Given the description of an element on the screen output the (x, y) to click on. 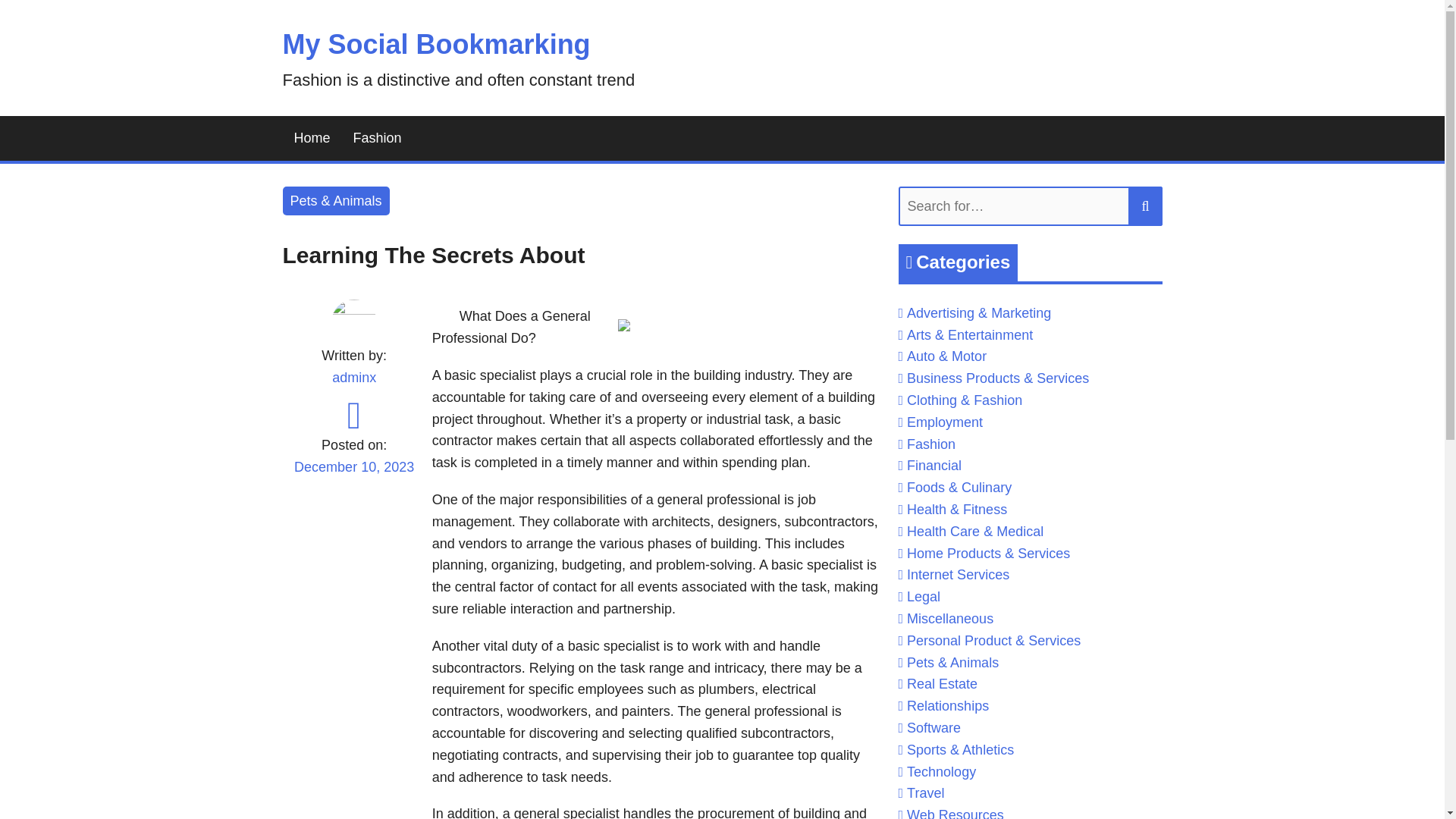
Employment (944, 421)
Software (933, 727)
Travel (925, 792)
Financial (933, 465)
Web Resources (955, 813)
Relationships (947, 705)
Legal (923, 596)
Fashion (931, 444)
Internet Services (958, 574)
My Social Bookmarking (435, 43)
Miscellaneous (949, 618)
Fashion (377, 138)
Search for: (1029, 206)
Real Estate (941, 683)
Home (311, 138)
